Given the description of an element on the screen output the (x, y) to click on. 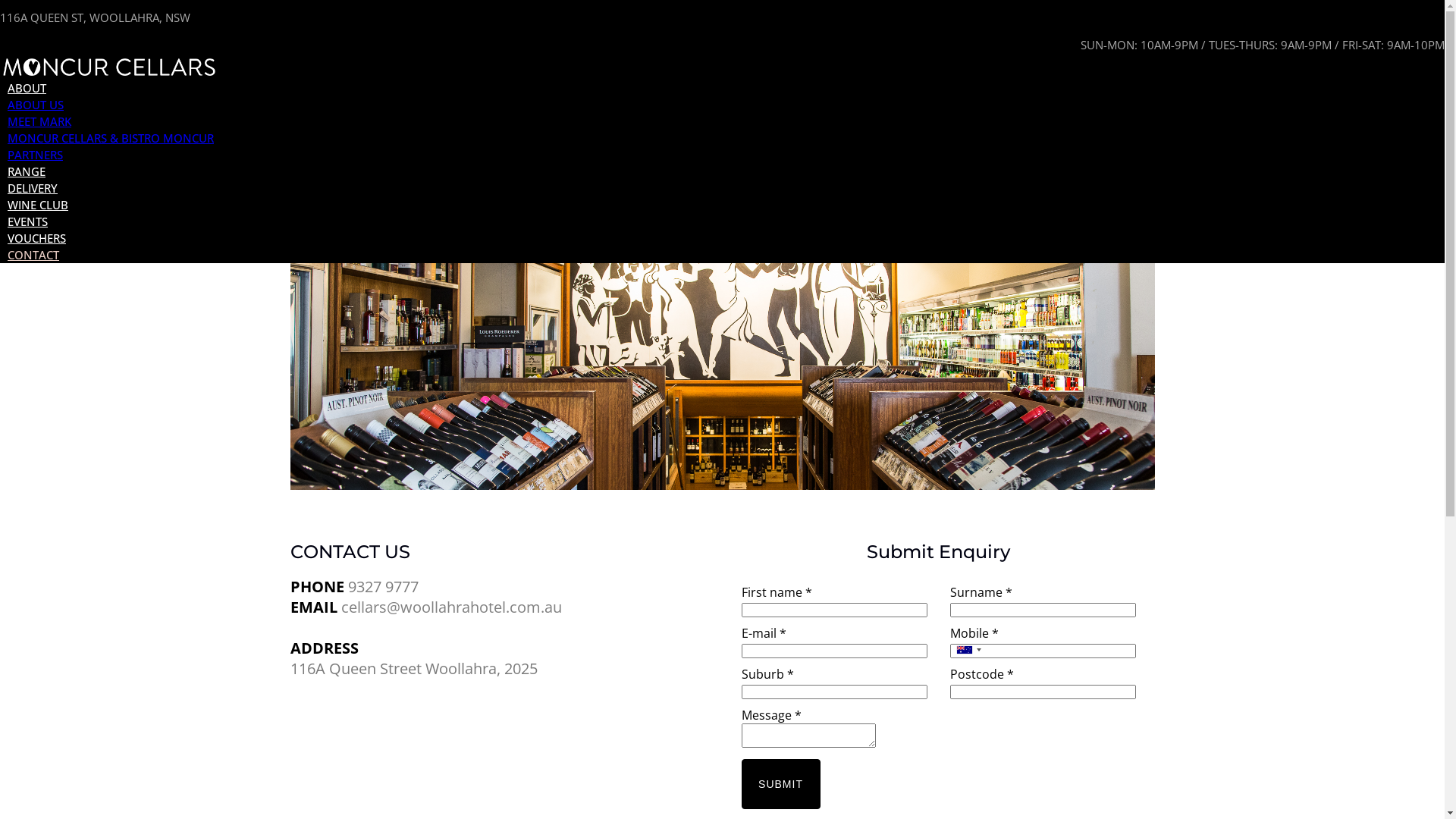
CONTACT Element type: text (33, 254)
VOUCHERS Element type: text (36, 237)
MONCUR CELLARS & BISTRO MONCUR Element type: text (110, 137)
DELIVERY Element type: text (32, 187)
SUBMIT Element type: text (780, 784)
EVENTS Element type: text (27, 221)
WINE CLUB Element type: text (37, 204)
RANGE Element type: text (26, 171)
ABOUT US Element type: text (35, 104)
Australia: +61 Element type: hover (967, 649)
MEET MARK Element type: text (39, 121)
ABOUT Element type: text (26, 87)
PARTNERS Element type: text (35, 154)
cellars@woollahrahotel.com.au Element type: text (451, 606)
